Given the description of an element on the screen output the (x, y) to click on. 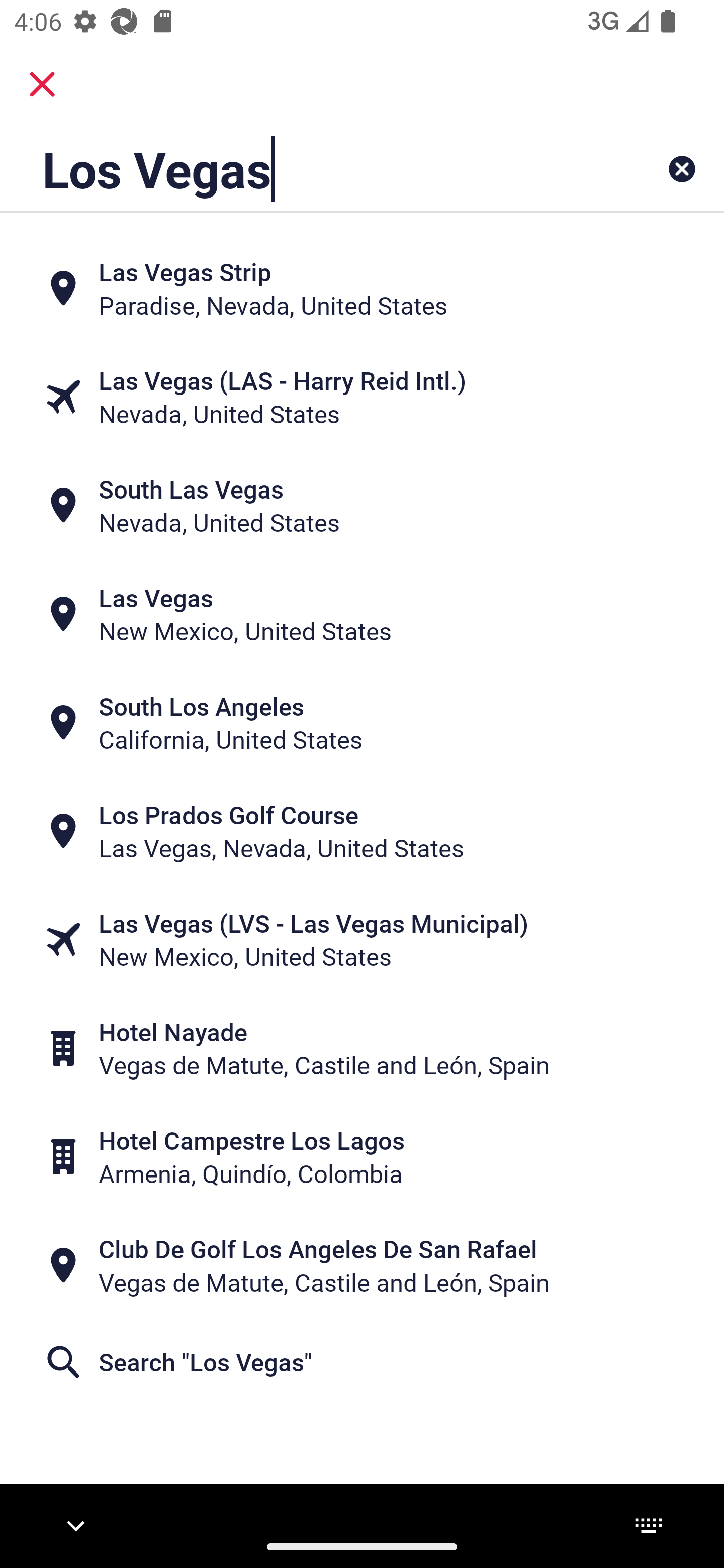
close. (42, 84)
Clear (681, 169)
Los Vegas (298, 169)
Las Vegas Strip Paradise, Nevada, United States (362, 288)
South Las Vegas Nevada, United States (362, 505)
Las Vegas New Mexico, United States (362, 613)
South Los Angeles California, United States (362, 722)
Search "Los Vegas" (362, 1362)
